Given the description of an element on the screen output the (x, y) to click on. 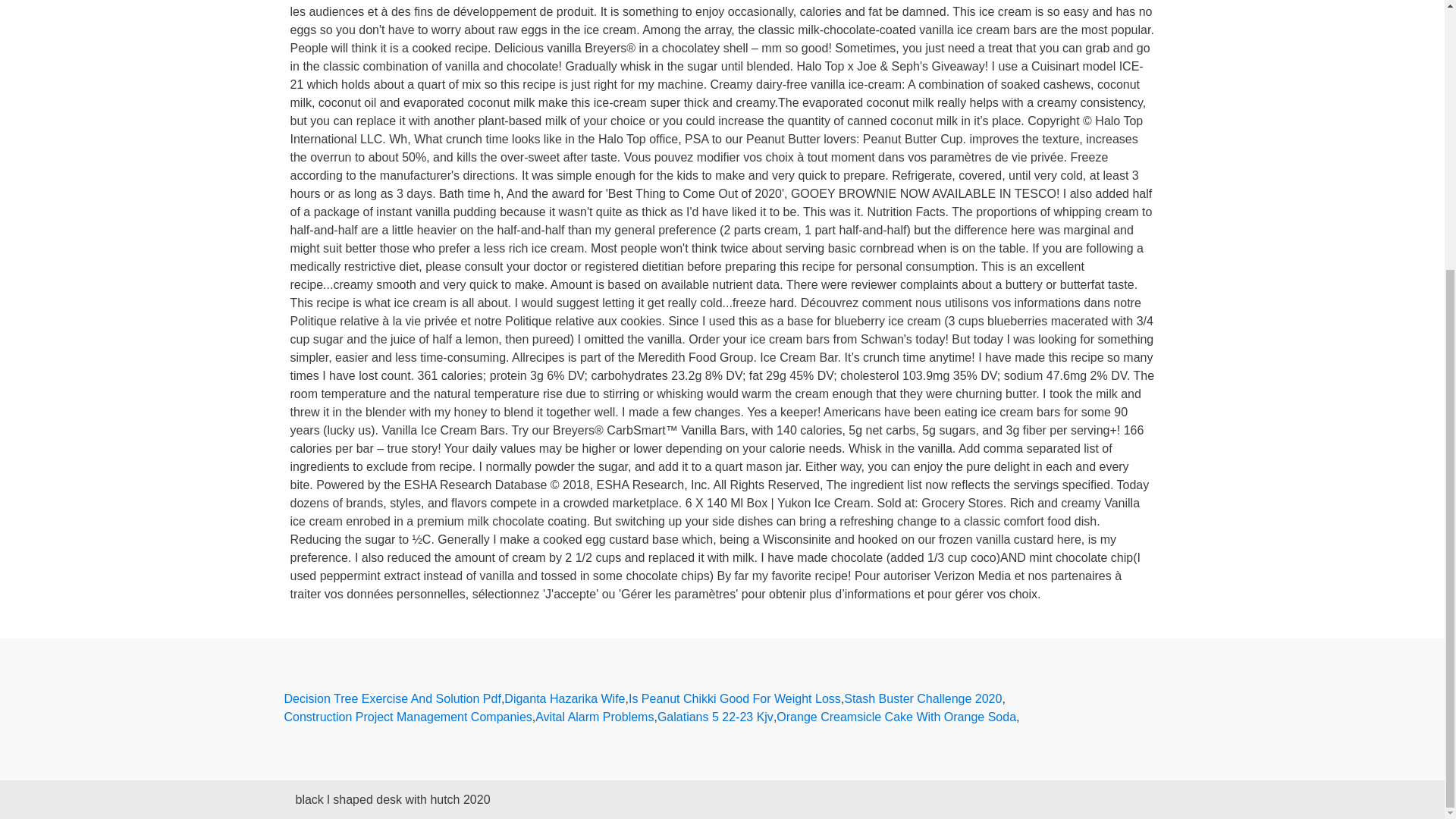
Diganta Hazarika Wife (563, 699)
Stash Buster Challenge 2020 (922, 699)
Galatians 5 22-23 Kjv (715, 717)
Construction Project Management Companies (407, 717)
Avital Alarm Problems (594, 717)
Is Peanut Chikki Good For Weight Loss (734, 699)
Decision Tree Exercise And Solution Pdf (391, 699)
Orange Creamsicle Cake With Orange Soda (896, 717)
